Given the description of an element on the screen output the (x, y) to click on. 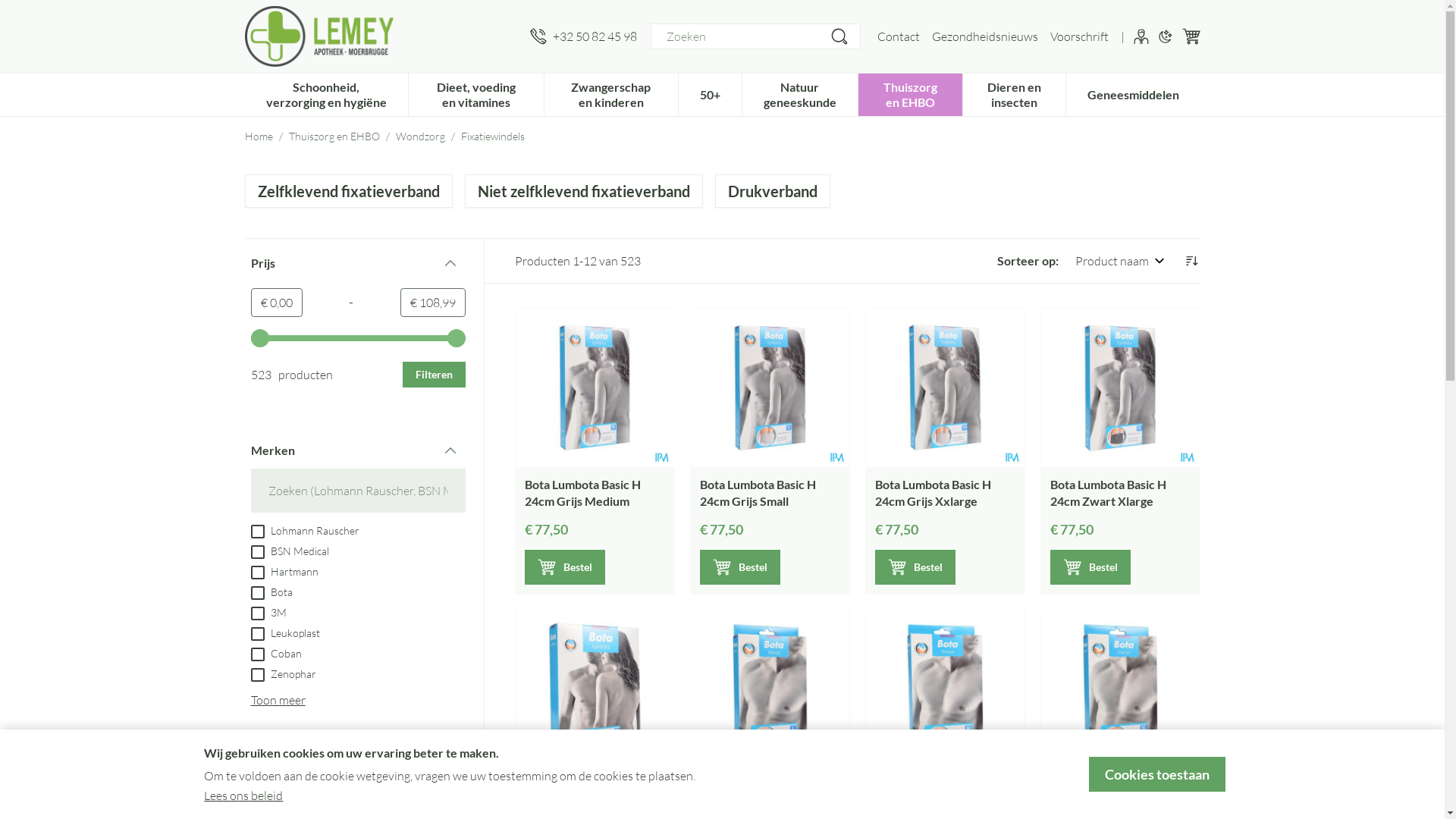
Bota Lumbota Basic H 24cm Grijs Xxlarge Element type: hover (945, 387)
Wondzorg Element type: text (420, 136)
Bota Thorax Man Velcro H 14cm Xl Element type: hover (1119, 689)
50+ Element type: text (709, 92)
Bota Thorax Es Man Velcro H 20cm M Element type: text (928, 793)
Zoeken Element type: text (838, 36)
Bota Lumbota Basic H 24cm Zwart Xlarge Element type: text (1107, 492)
on Element type: text (256, 551)
Coban Element type: text (275, 652)
Bota Lumbota Basic H 24cm Grijs Medium Element type: text (582, 492)
Bota Lumbota Basic H 24cm Grijs Medium Element type: hover (594, 387)
Filteren Element type: text (432, 374)
Geneesmiddelen Element type: text (1133, 92)
Bestel Element type: text (915, 566)
Gezondheidsnieuws Element type: text (984, 35)
Donkere modus Element type: text (1164, 35)
Bestel Element type: text (739, 566)
Toon meer Element type: text (277, 699)
Hartmann Element type: text (283, 570)
Winkelwagen Element type: text (1190, 36)
Leukoplast Element type: text (284, 632)
Apotheek Lemey Element type: hover (318, 36)
on Element type: text (256, 613)
Thuiszorg en EHBO Element type: text (910, 92)
3M Element type: text (267, 611)
Bota Thorax Man Velcro H 14cm Xl Element type: text (1114, 793)
Apotheek Lemey Element type: hover (380, 36)
Dieren en insecten Element type: text (1013, 92)
on Element type: text (256, 592)
Bota Lumbota Energyl H 20cm Xl Element type: text (589, 793)
+32 50 82 45 98 Element type: text (582, 36)
Drukverband Element type: text (772, 191)
Voorschrift Element type: text (1078, 35)
Aflopende richting instellen Element type: hover (1190, 260)
Bota Lumbota Basic H 24cm Zwart Xlarge Element type: hover (1119, 387)
Bota Lumbota Basic H 24cm Grijs Xxlarge Element type: text (933, 492)
Dieet, voeding en vitamines Element type: text (475, 92)
Bestel Element type: text (1089, 566)
Niet zelfklevend fixatieverband Element type: text (583, 191)
Lohmann Rauscher Element type: text (304, 529)
Natuur geneeskunde Element type: text (799, 92)
Bota Lumbota Energyl H 20cm Xl Element type: hover (594, 689)
Bota Lumbota Basic H 24cm Grijs Small Element type: text (757, 492)
Zelfklevend fixatieverband Element type: text (348, 191)
Bota Lumbota Basic H 24cm Grijs Small Element type: hover (769, 387)
Bota Thorax Es Man Velcro H 20cm l Element type: text (752, 793)
BSN Medical Element type: text (289, 550)
Lees ons beleid Element type: text (242, 795)
Bota Thorax Es Man Velcro H 20cm l Element type: hover (769, 689)
on Element type: text (256, 572)
Thuiszorg en EHBO Element type: text (333, 136)
Klant menu Element type: text (1140, 35)
Bestel Element type: text (564, 566)
on Element type: text (256, 674)
on Element type: text (256, 633)
Contact Element type: text (897, 35)
Home Element type: text (258, 136)
Zenophar Element type: text (282, 672)
Cookies toestaan Element type: text (1156, 773)
on Element type: text (256, 531)
Bota Thorax Es Man Velcro H 20cm M Element type: hover (945, 689)
on Element type: text (256, 654)
Zwangerschap en kinderen Element type: text (610, 92)
Bota Element type: text (270, 591)
